Given the description of an element on the screen output the (x, y) to click on. 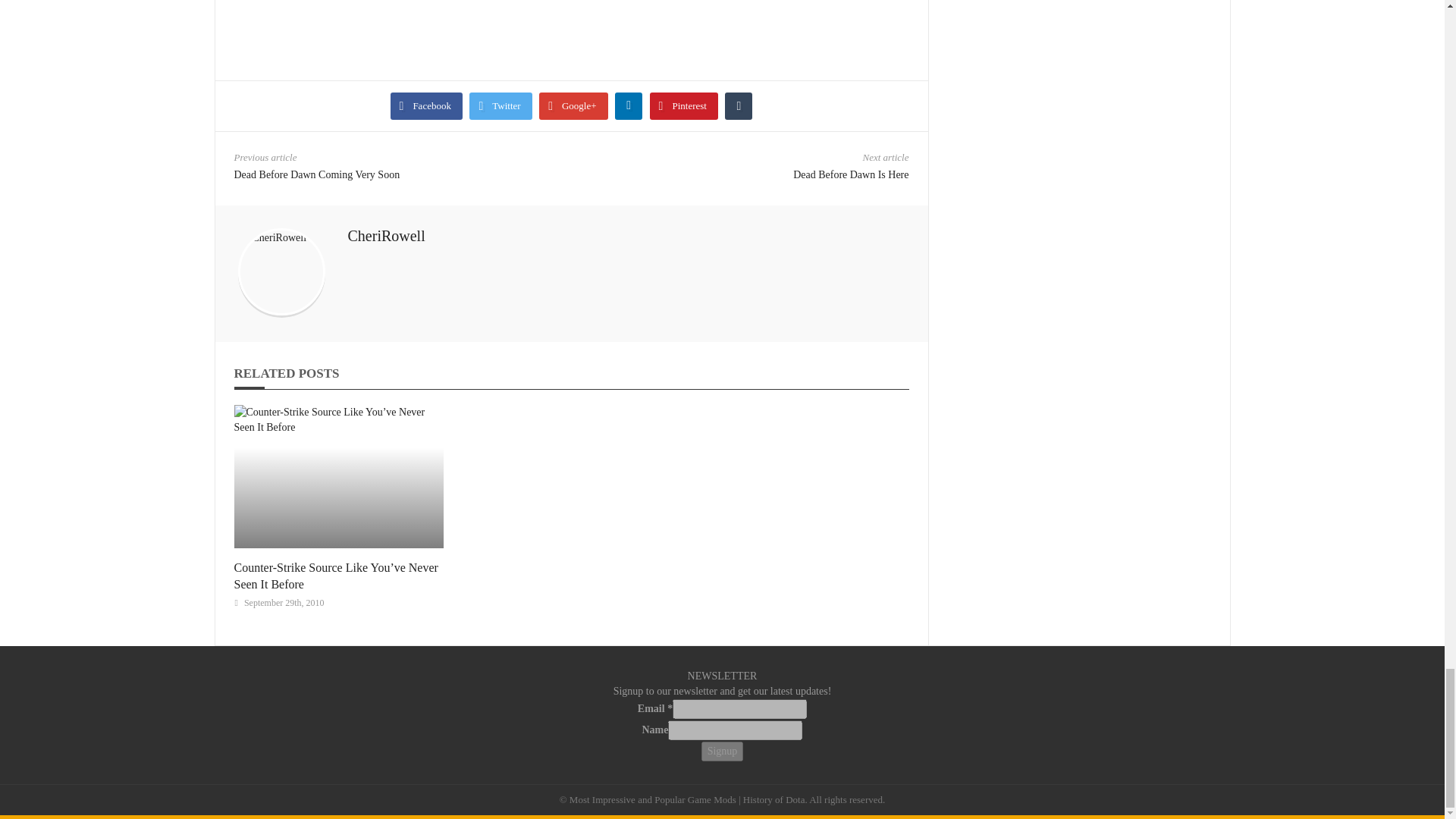
hl2 2010-09-29 03-07-20-36 (472, 17)
Posts by CheriRowell (386, 235)
Dead Before Dawn Is Here (850, 174)
Dead Before Dawn Coming Very Soon (315, 174)
